Given the description of an element on the screen output the (x, y) to click on. 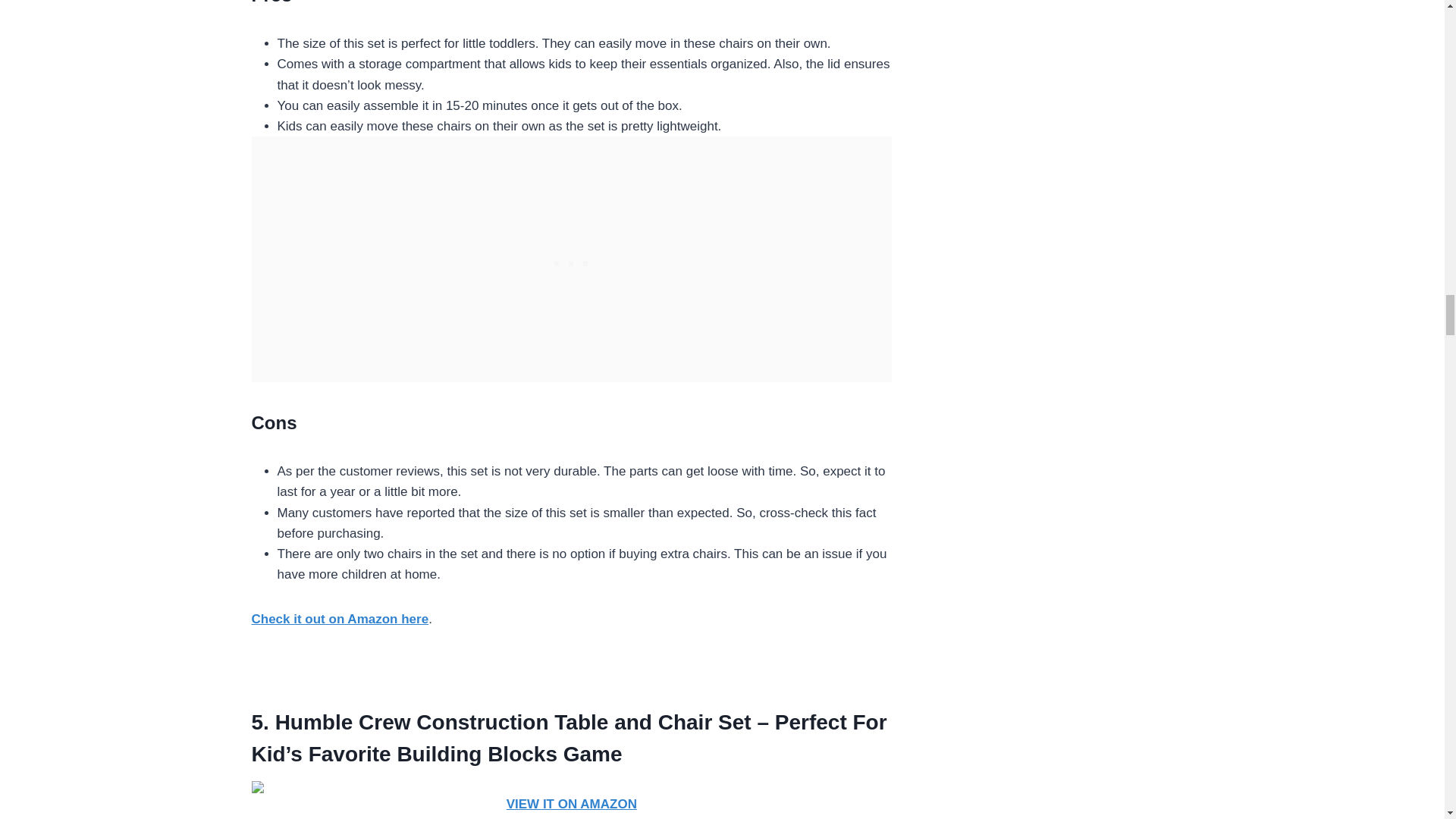
Check it out on Amazon here (340, 618)
